Given the description of an element on the screen output the (x, y) to click on. 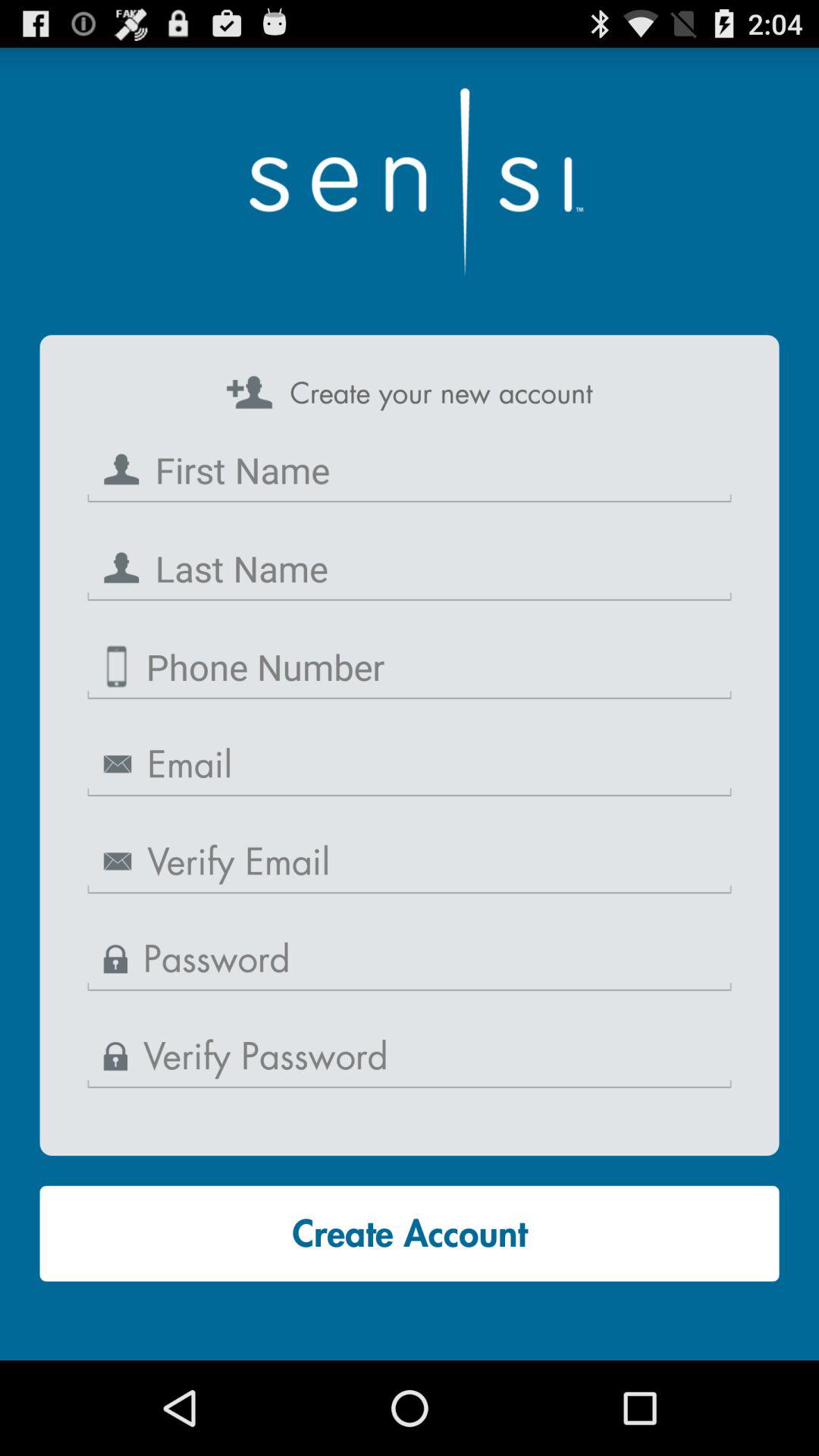
fill in your first name (409, 470)
